Given the description of an element on the screen output the (x, y) to click on. 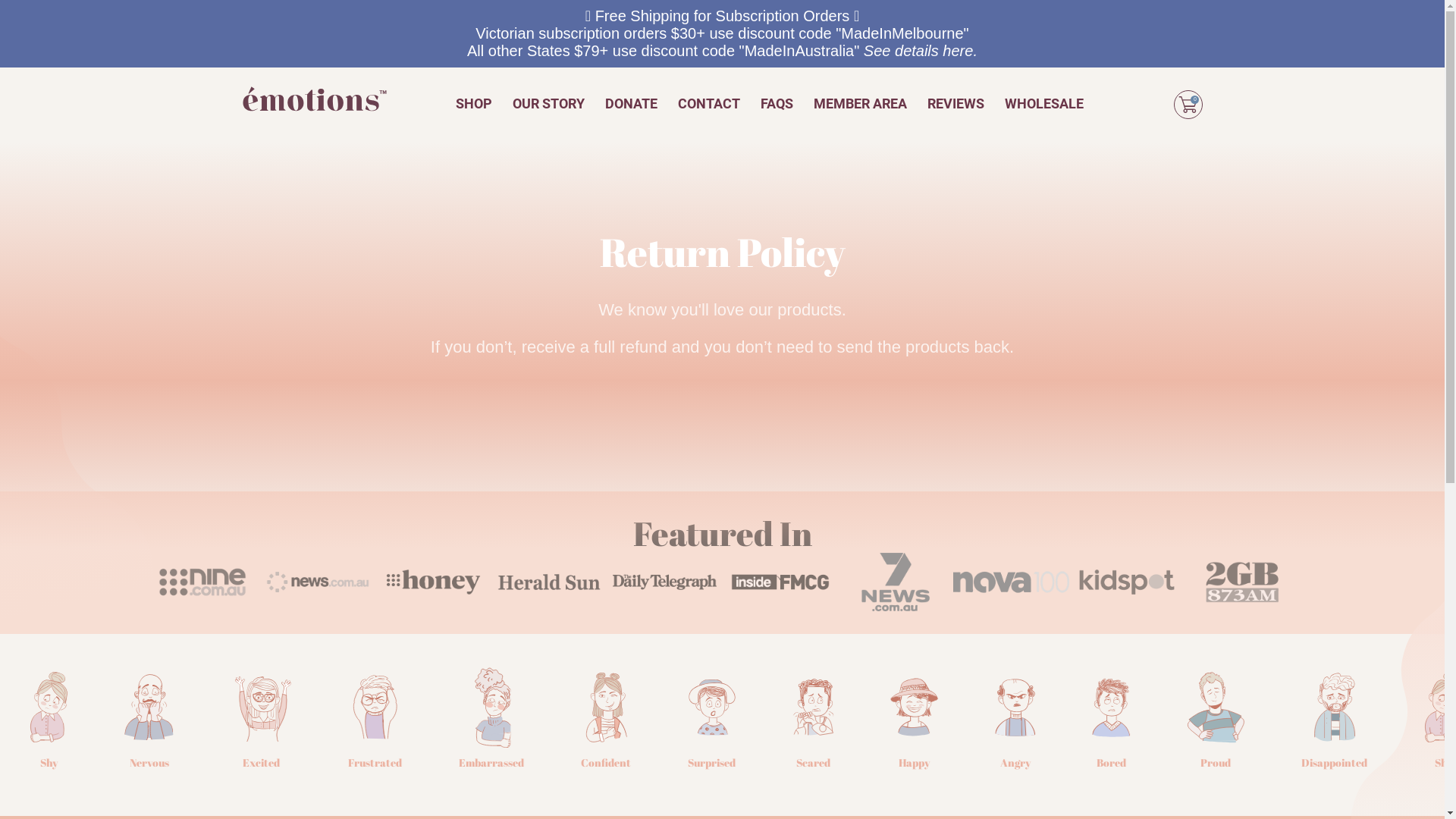
MEMBER AREA Element type: text (859, 103)
OUR STORY Element type: text (548, 103)
See details here. Element type: text (920, 50)
CONTACT Element type: text (708, 103)
REVIEWS Element type: text (955, 103)
0 Element type: text (1187, 104)
SHOP Element type: text (473, 103)
DONATE Element type: text (631, 103)
FAQS Element type: text (776, 103)
WHOLESALE Element type: text (1043, 103)
